Given the description of an element on the screen output the (x, y) to click on. 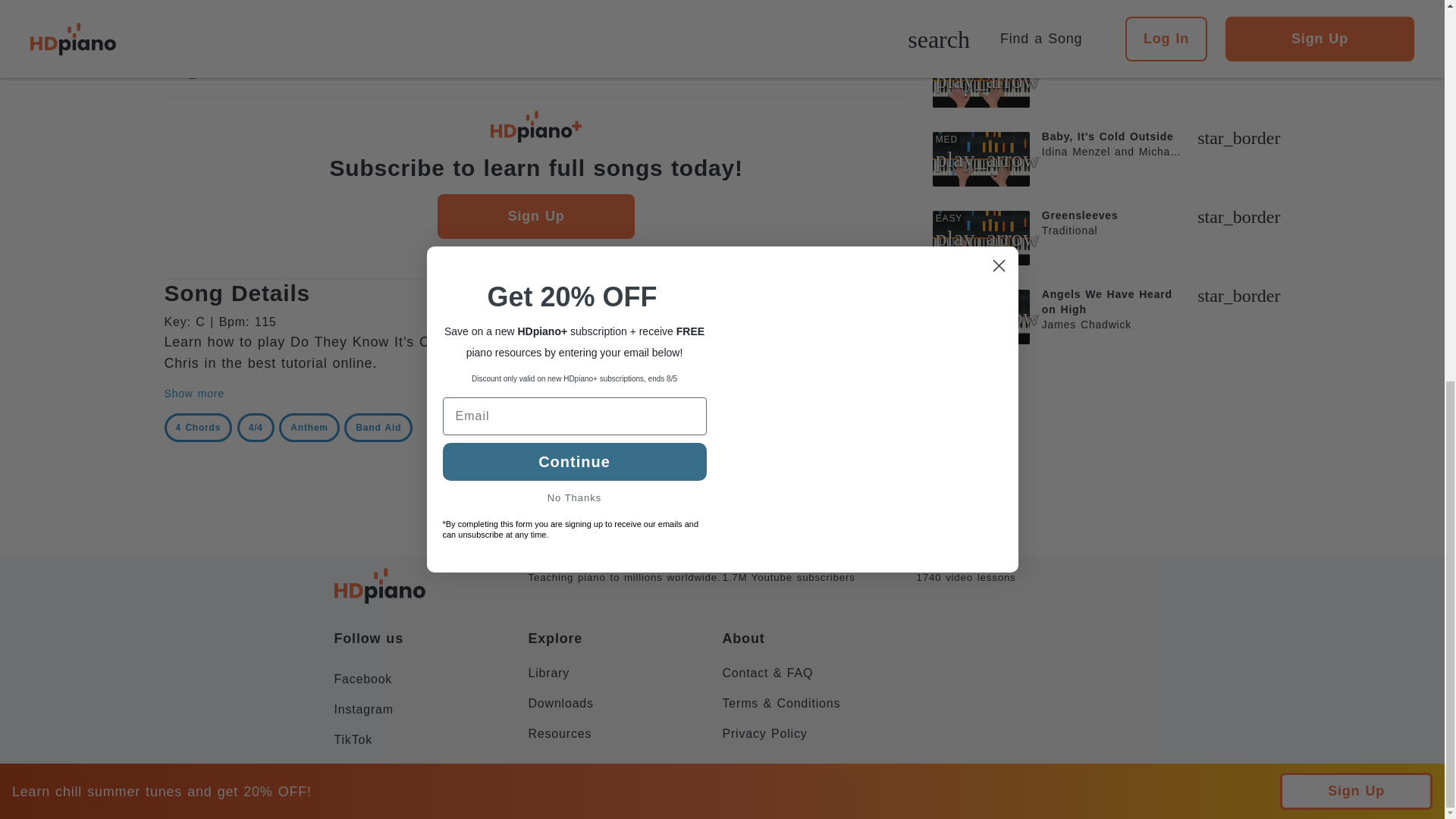
Sign up to get started (535, 62)
Sign up to get started (535, 19)
